Given the description of an element on the screen output the (x, y) to click on. 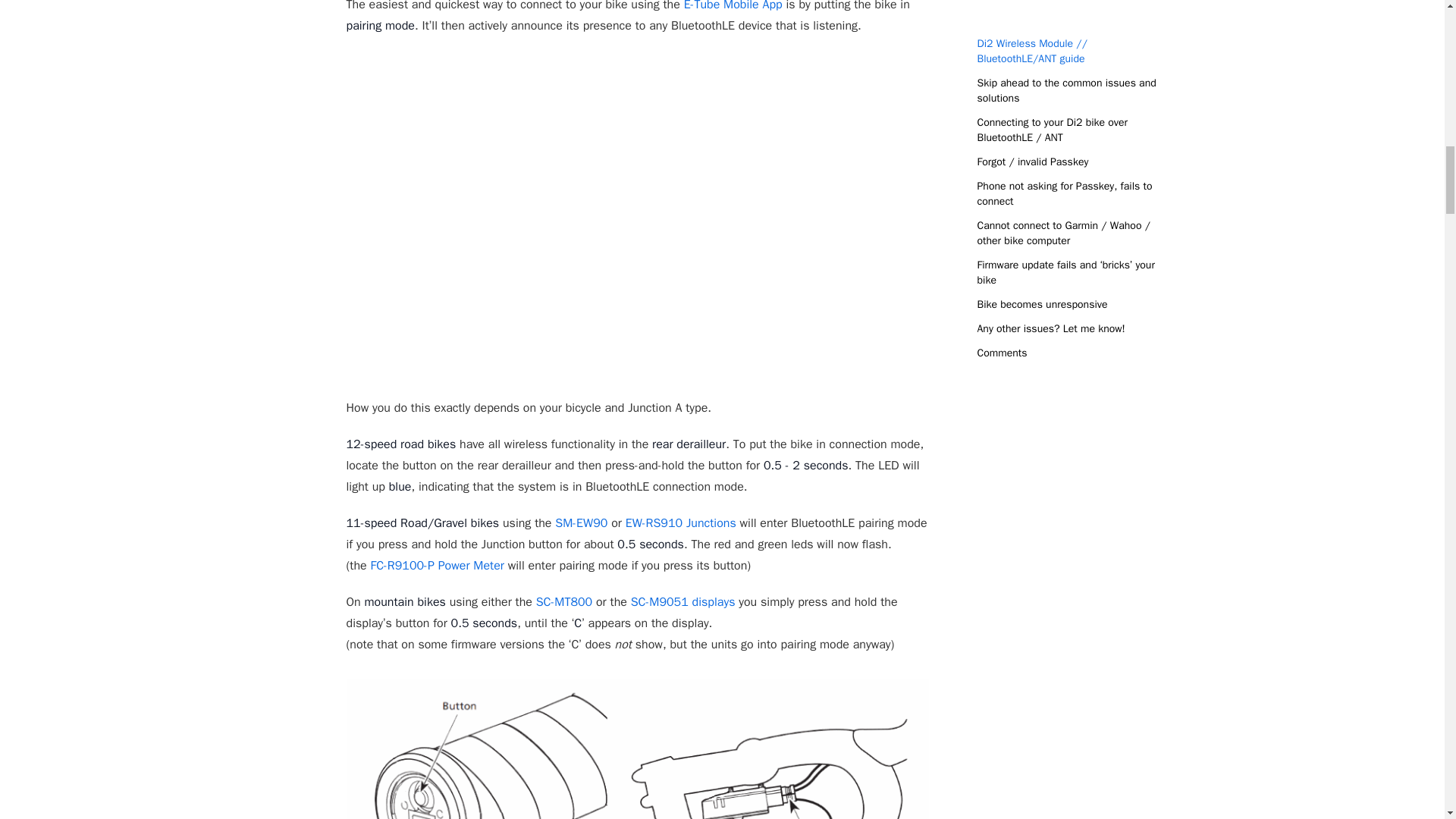
FC-R9100-P Power Meter (436, 565)
EW-RS910 Junctions (681, 522)
SC-M9051 displays (682, 601)
SM-EW90 (580, 522)
SC-MT800 (563, 601)
E-Tube Mobile App (733, 6)
